Given the description of an element on the screen output the (x, y) to click on. 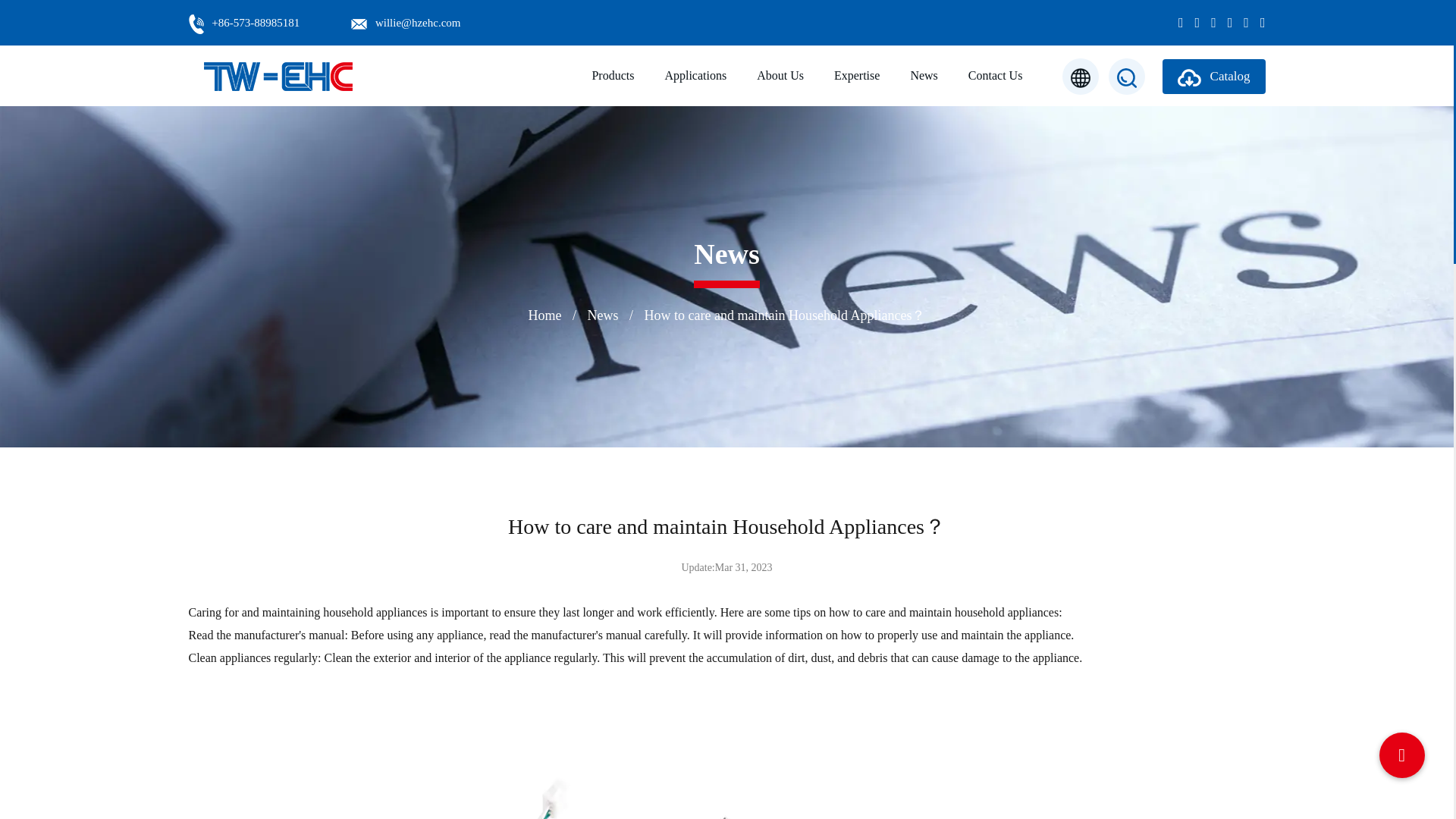
Zhejiang Enhong Electronics Co., Ltd. (277, 76)
Contact Us (995, 75)
About Us (780, 75)
Expertise (856, 75)
Applications (694, 75)
News (923, 75)
Products (612, 75)
Catalog (1213, 76)
